Given the description of an element on the screen output the (x, y) to click on. 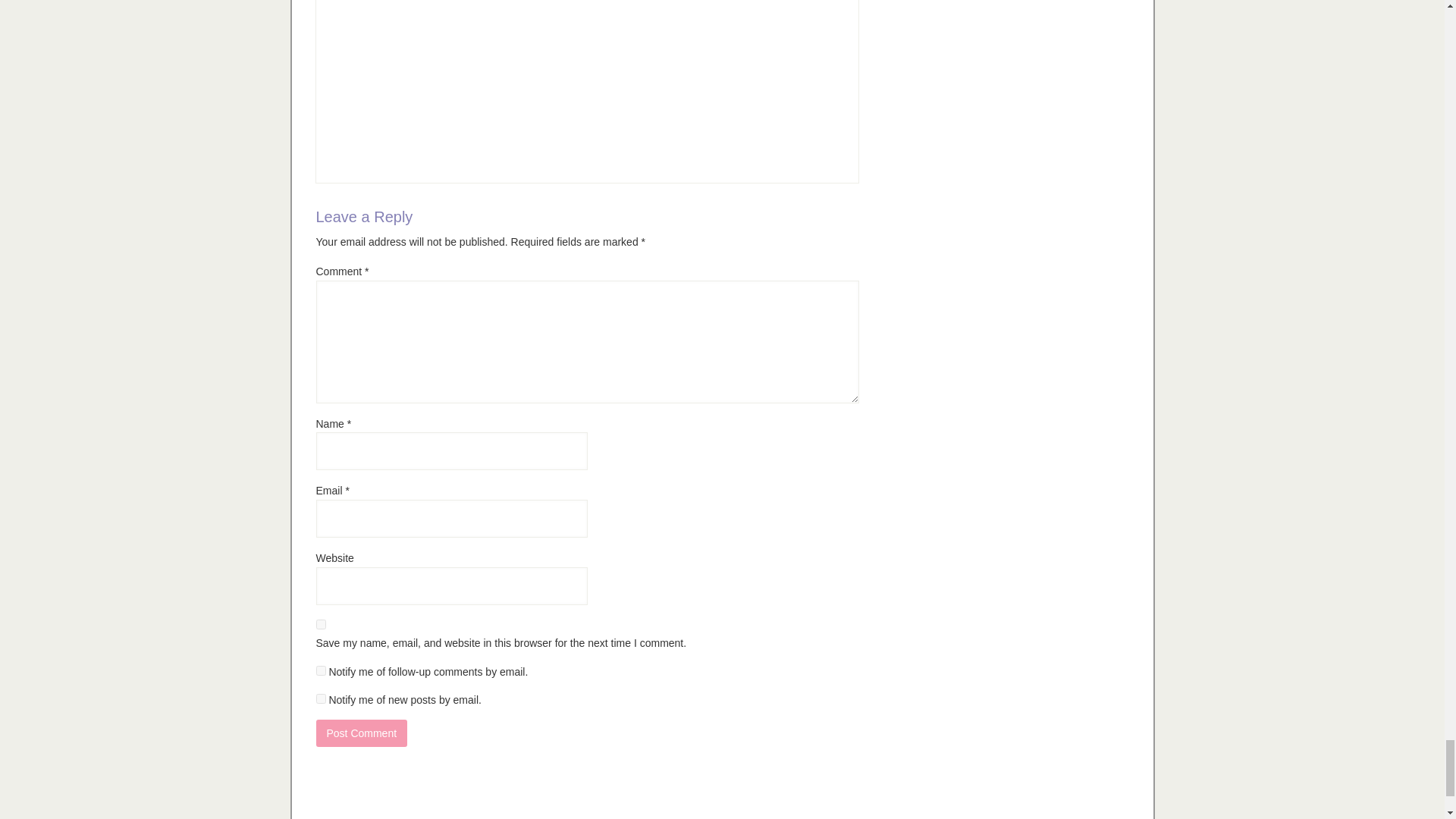
Post Comment (361, 732)
yes (319, 624)
Post Comment (361, 732)
subscribe (319, 698)
subscribe (319, 670)
